Given the description of an element on the screen output the (x, y) to click on. 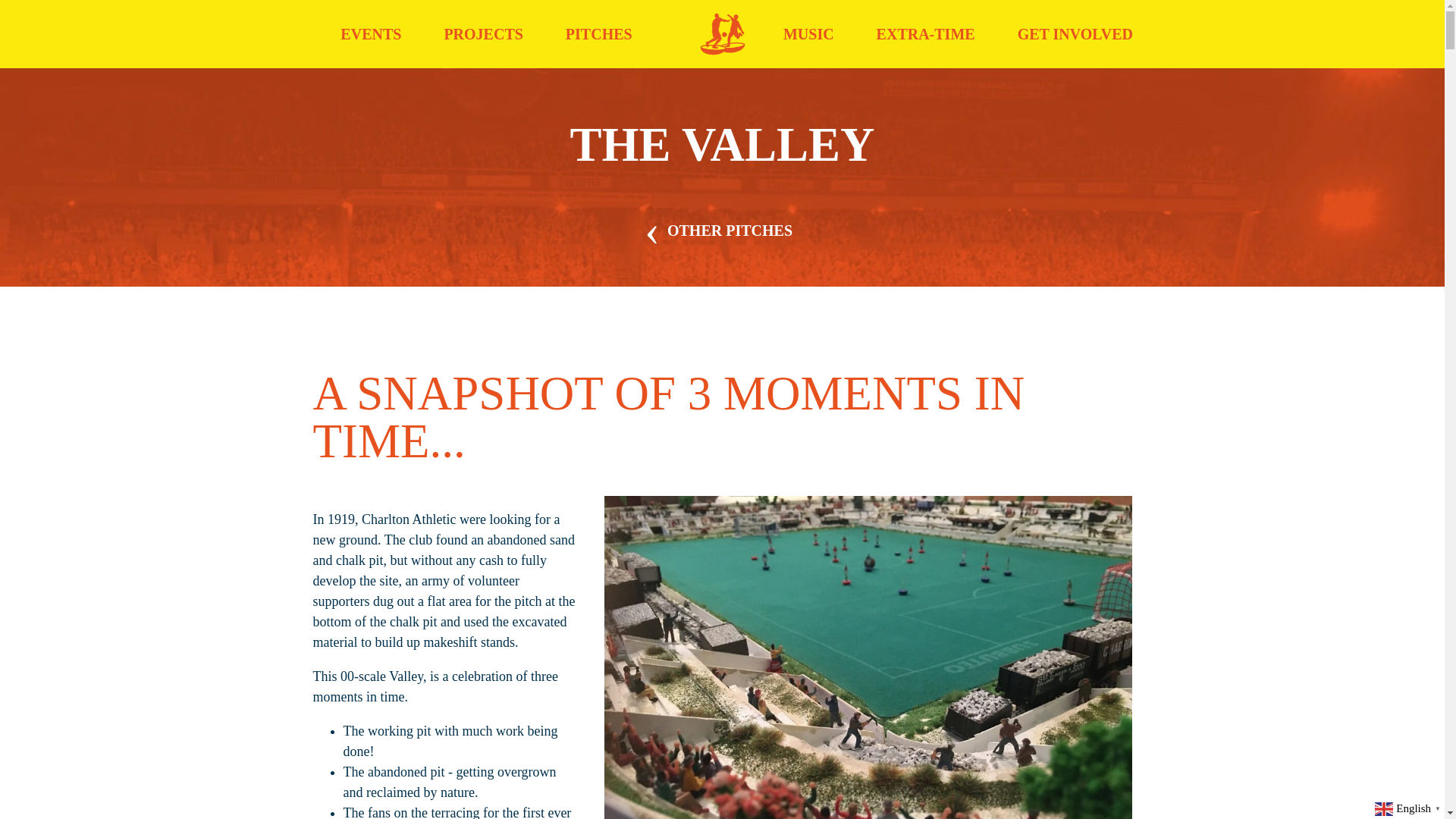
EXTRA-TIME (925, 34)
EVENTS (370, 34)
MUSIC (808, 34)
PITCHES (598, 34)
GET INVOLVED (1074, 34)
PROJECTS (482, 34)
